Given the description of an element on the screen output the (x, y) to click on. 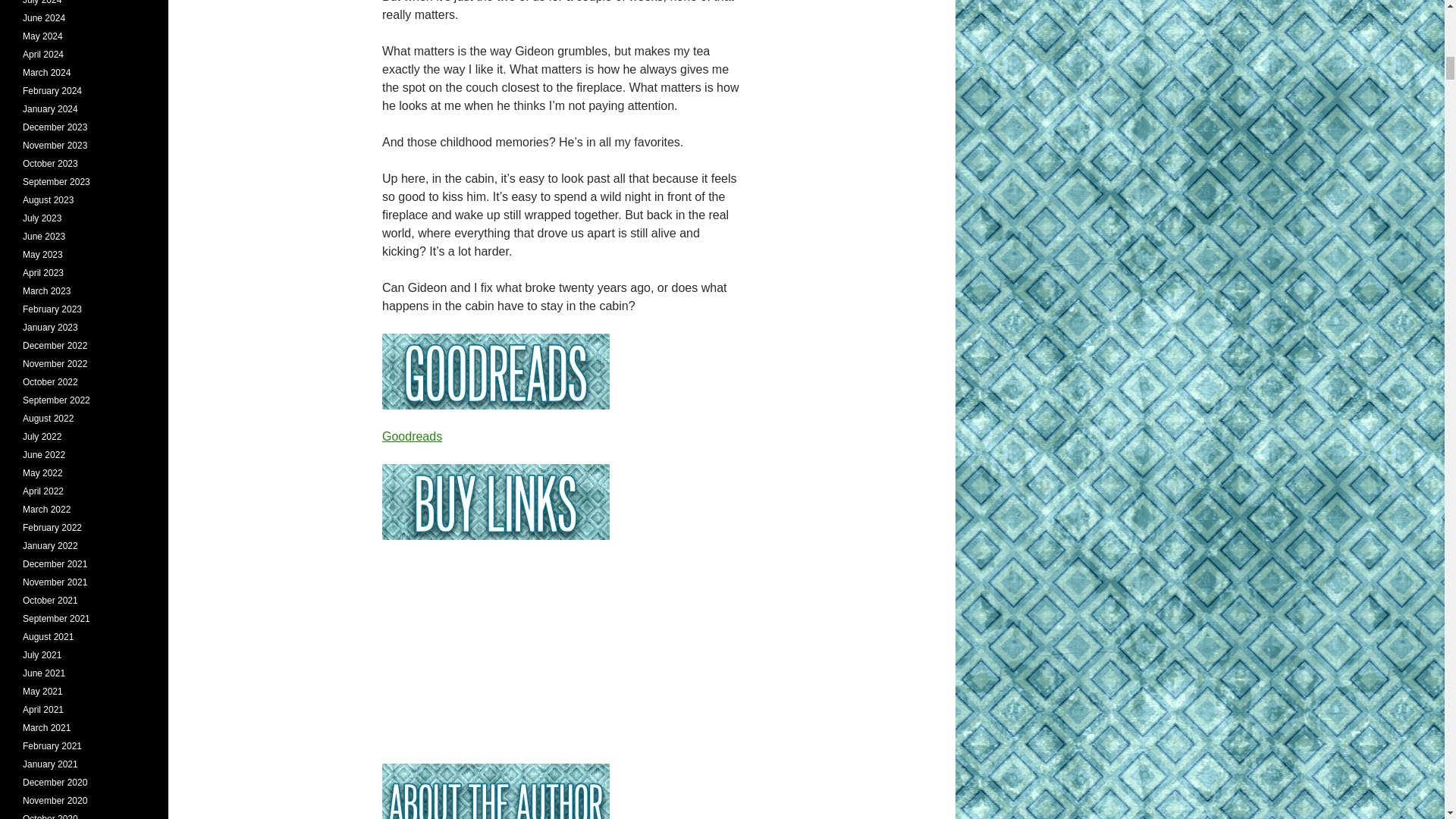
Goodreads (411, 436)
